Given the description of an element on the screen output the (x, y) to click on. 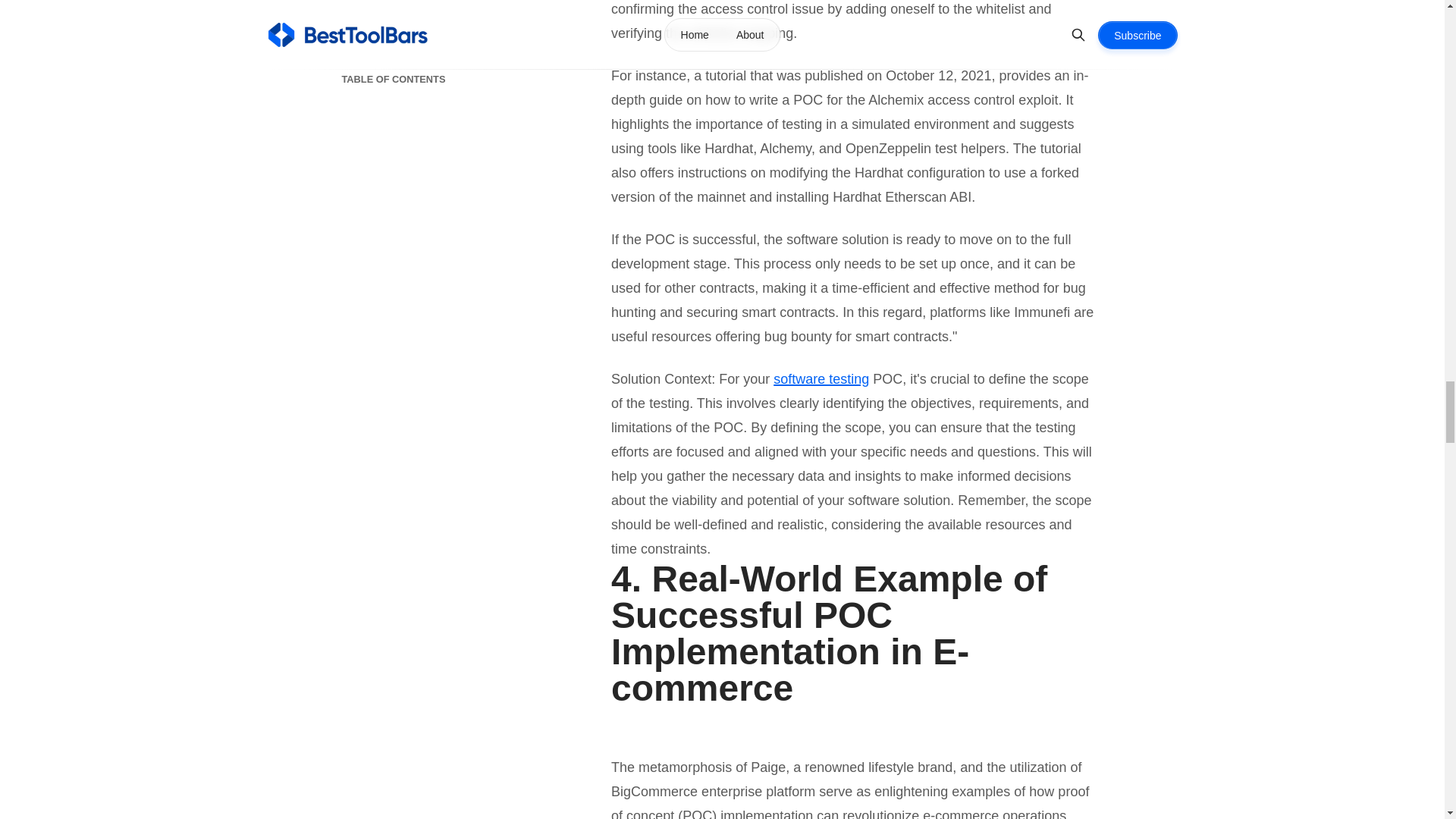
software testing (821, 378)
